Given the description of an element on the screen output the (x, y) to click on. 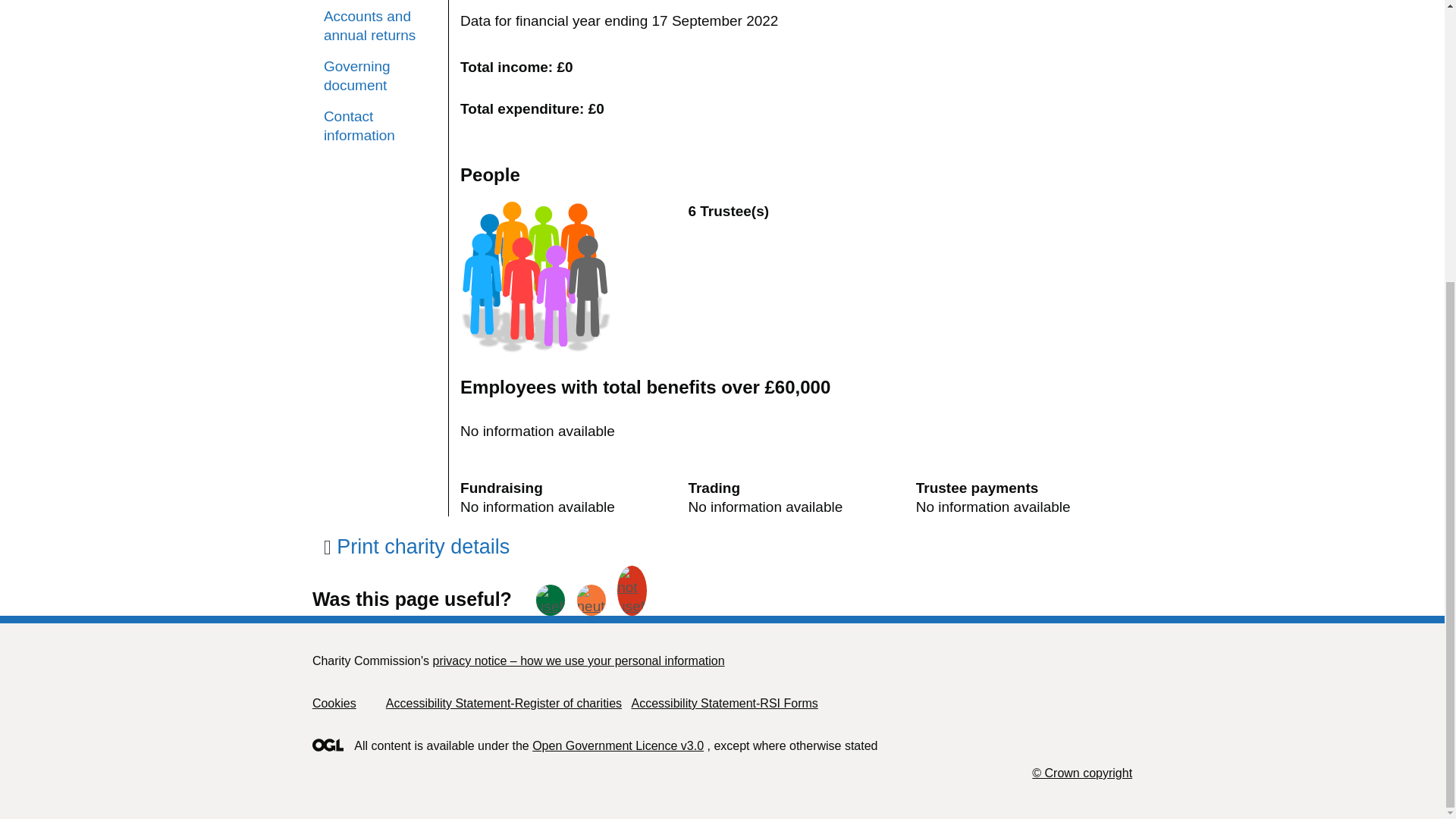
Cookies (334, 703)
Print charity details (416, 546)
Governing document (379, 75)
Contact information (379, 125)
Open Government Licence v3.0 (617, 745)
Accessibility Statement-RSI Forms (723, 703)
Accessibility Statement-Register of charities (503, 703)
Accounts and annual returns (379, 25)
